Given the description of an element on the screen output the (x, y) to click on. 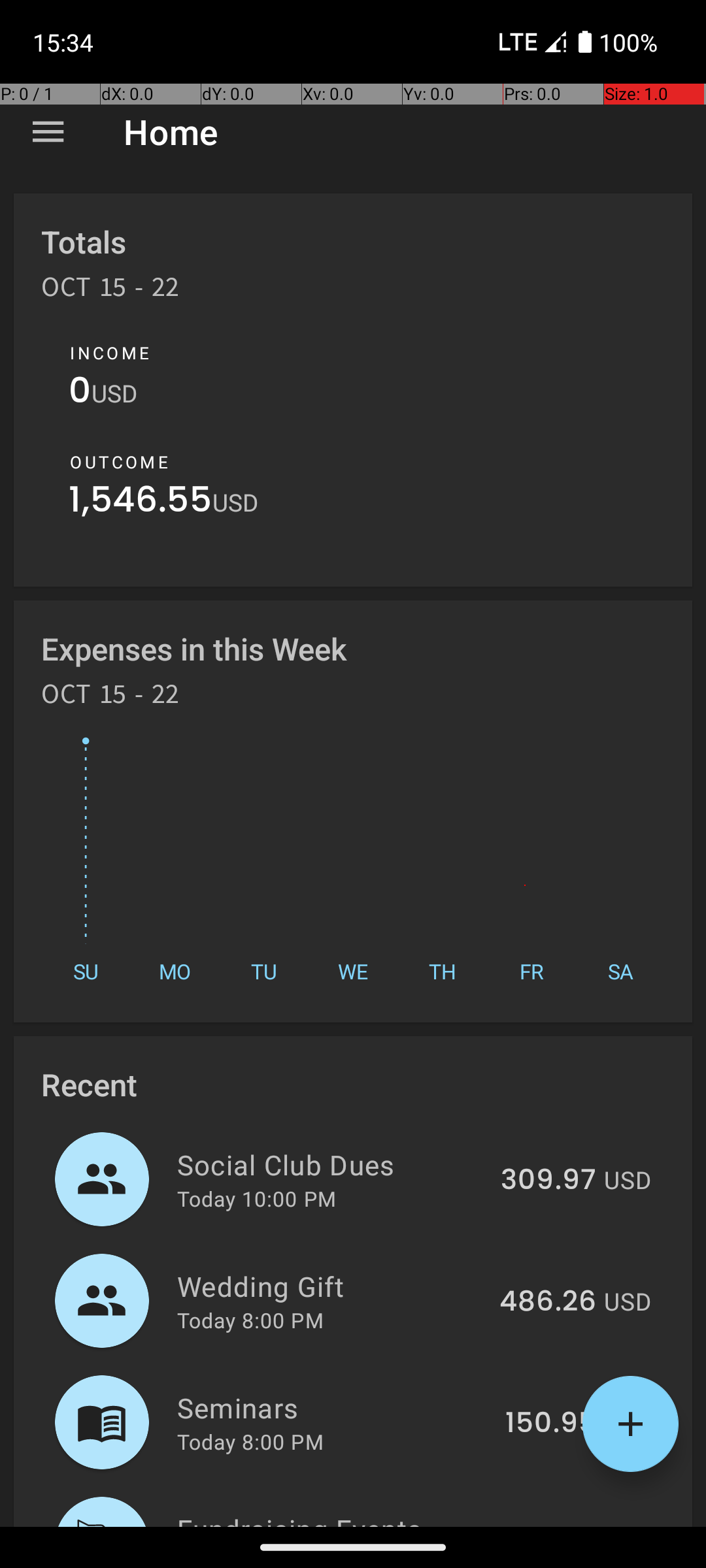
1,546.55 Element type: android.widget.TextView (140, 502)
Social Club Dues Element type: android.widget.TextView (331, 1164)
309.97 Element type: android.widget.TextView (548, 1180)
Wedding Gift Element type: android.widget.TextView (330, 1285)
486.26 Element type: android.widget.TextView (547, 1301)
Seminars Element type: android.widget.TextView (333, 1407)
150.95 Element type: android.widget.TextView (550, 1423)
Fundraising Events Element type: android.widget.TextView (335, 1518)
102.42 Element type: android.widget.TextView (552, 1524)
